Given the description of an element on the screen output the (x, y) to click on. 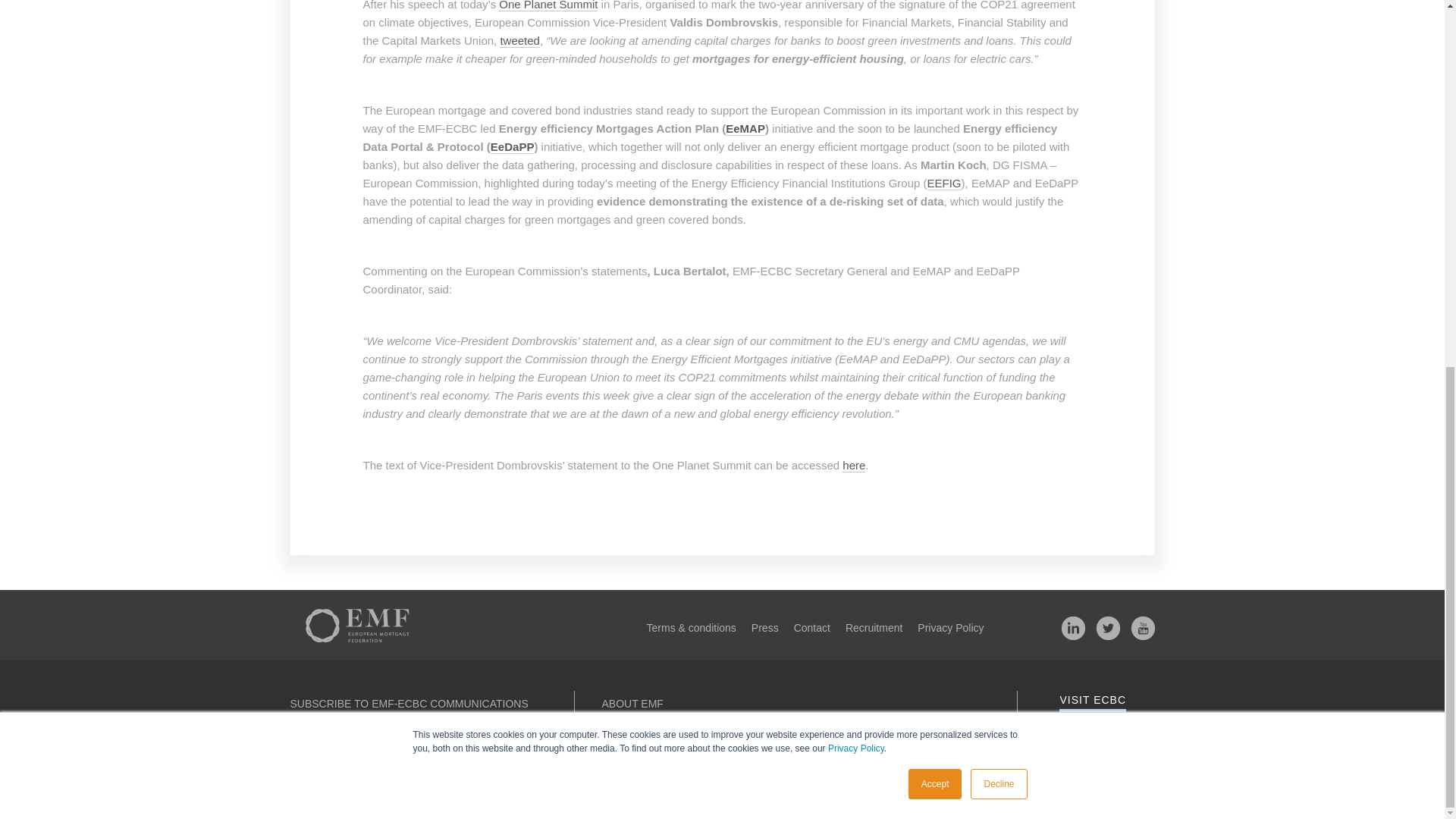
EeDaPP (512, 146)
Accept (935, 123)
tweeted (519, 40)
Decline (998, 123)
EeMAP (745, 128)
EEFIG (943, 183)
Privacy Policy (855, 87)
here (853, 465)
One Planet Summit (547, 5)
